Given the description of an element on the screen output the (x, y) to click on. 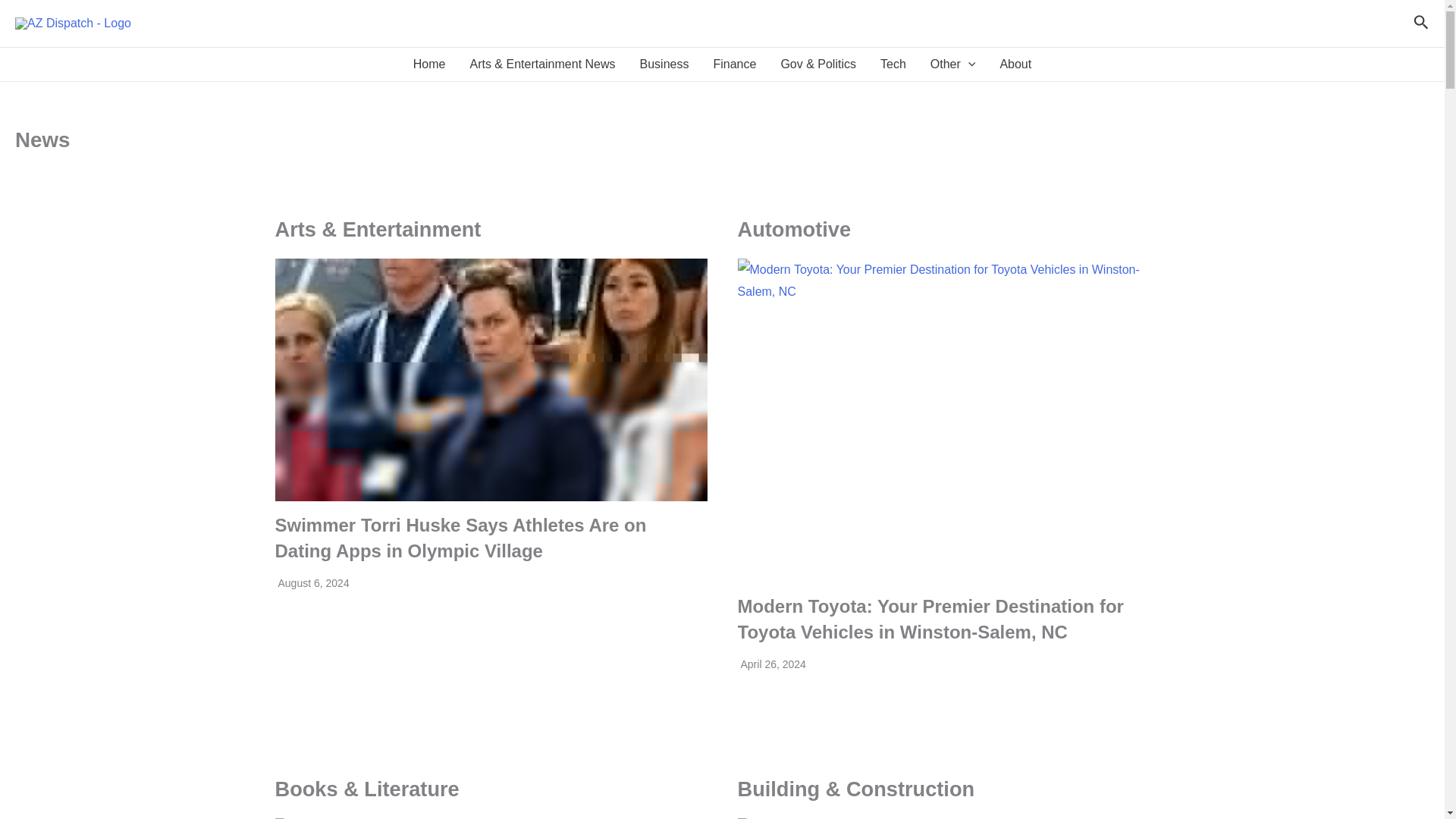
Finance (734, 64)
Home (429, 64)
Business (664, 64)
Other (953, 64)
About (1015, 64)
Tech (892, 64)
